Given the description of an element on the screen output the (x, y) to click on. 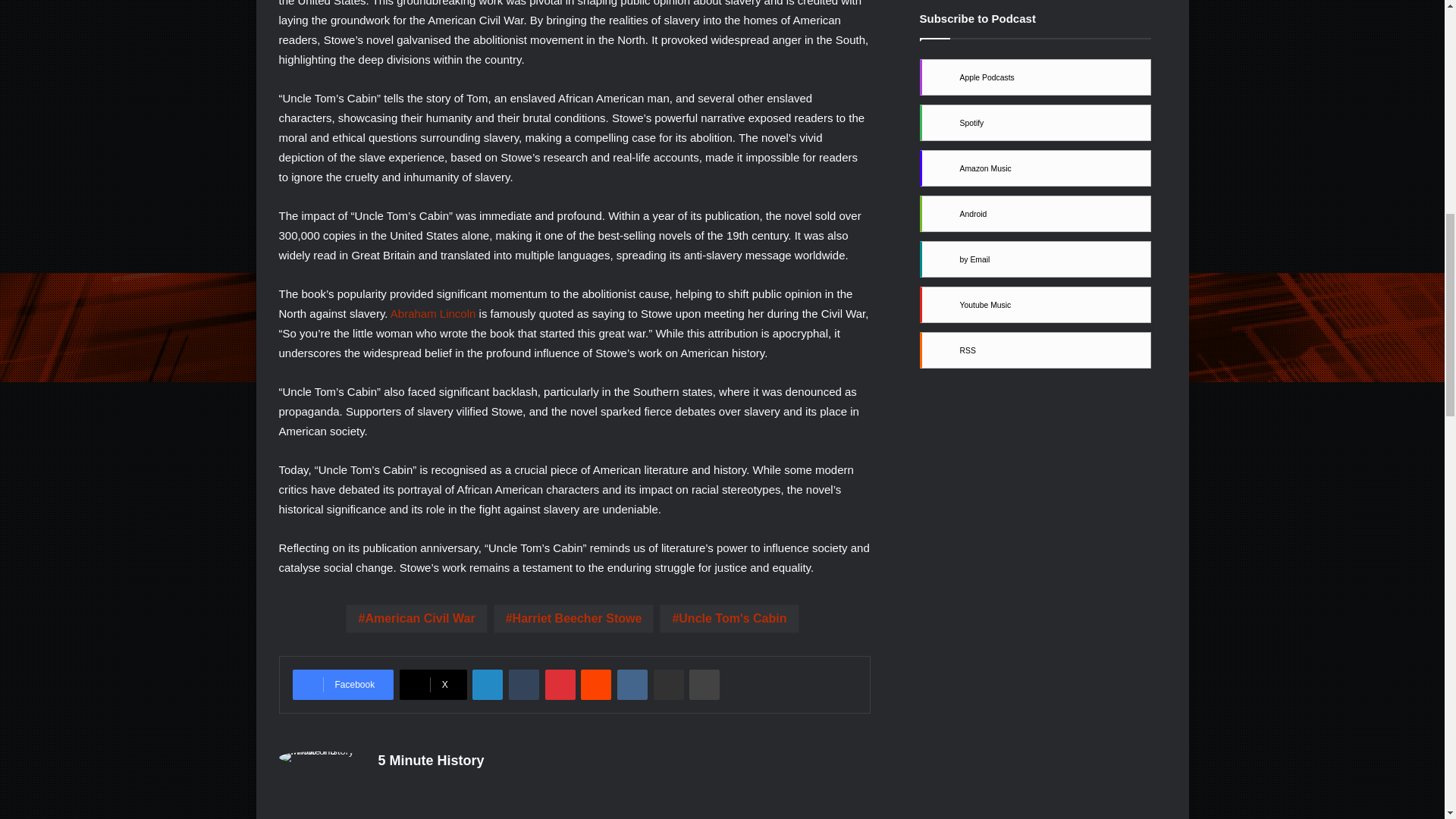
Share via Email (668, 684)
Subscribe on Amazon Music (1035, 167)
Subscribe on Apple Podcasts (1035, 76)
Pinterest (559, 684)
Tumblr (523, 684)
Print (703, 684)
Reddit (595, 684)
VKontakte (632, 684)
Facebook (343, 684)
LinkedIn (486, 684)
X (432, 684)
Subscribe on Spotify (1035, 122)
